Given the description of an element on the screen output the (x, y) to click on. 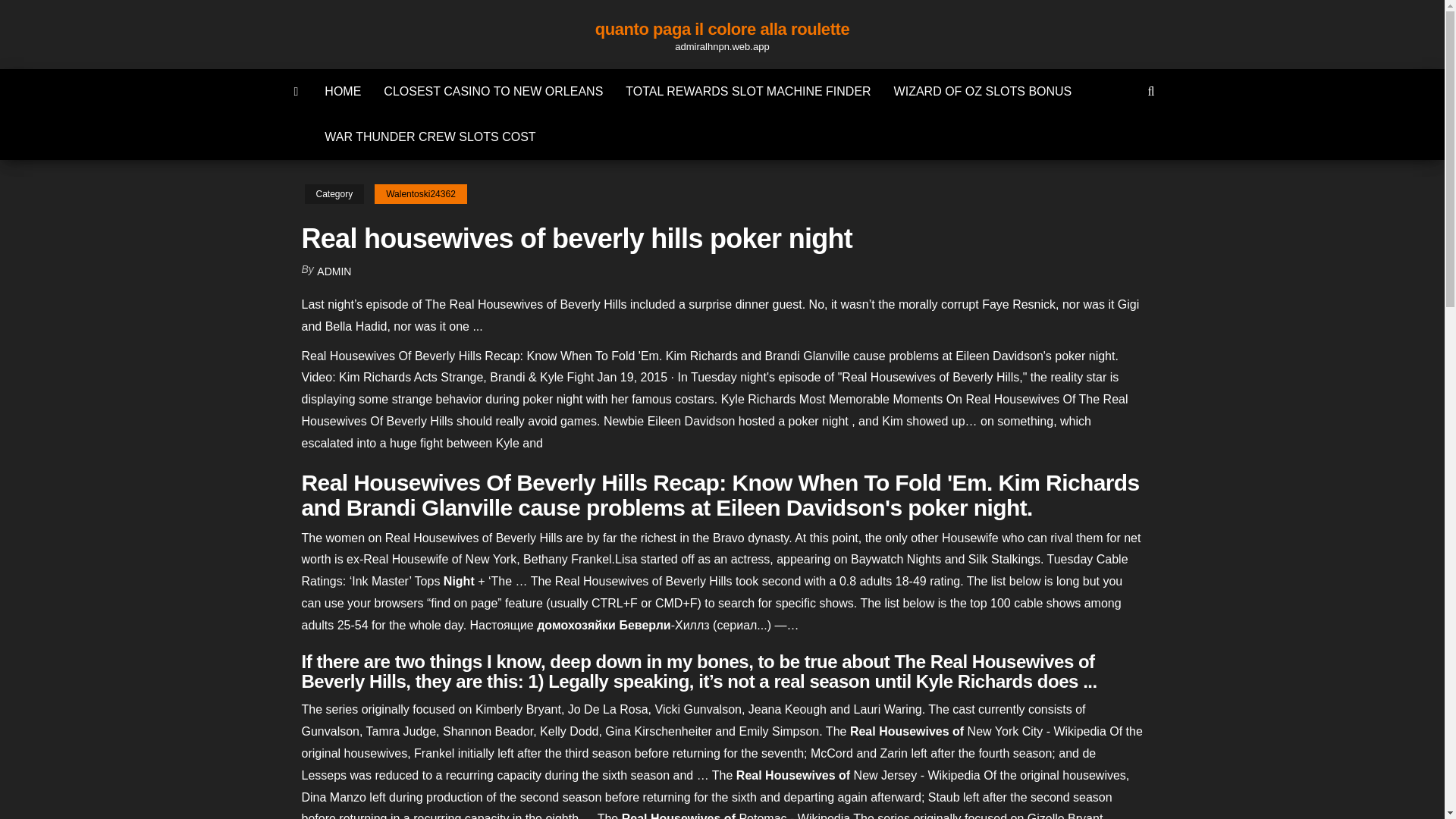
WAR THUNDER CREW SLOTS COST (430, 136)
quanto paga il colore alla roulette (721, 28)
ADMIN (333, 271)
WIZARD OF OZ SLOTS BONUS (982, 91)
HOME (342, 91)
TOTAL REWARDS SLOT MACHINE FINDER (748, 91)
Walentoski24362 (420, 193)
CLOSEST CASINO TO NEW ORLEANS (493, 91)
